Given the description of an element on the screen output the (x, y) to click on. 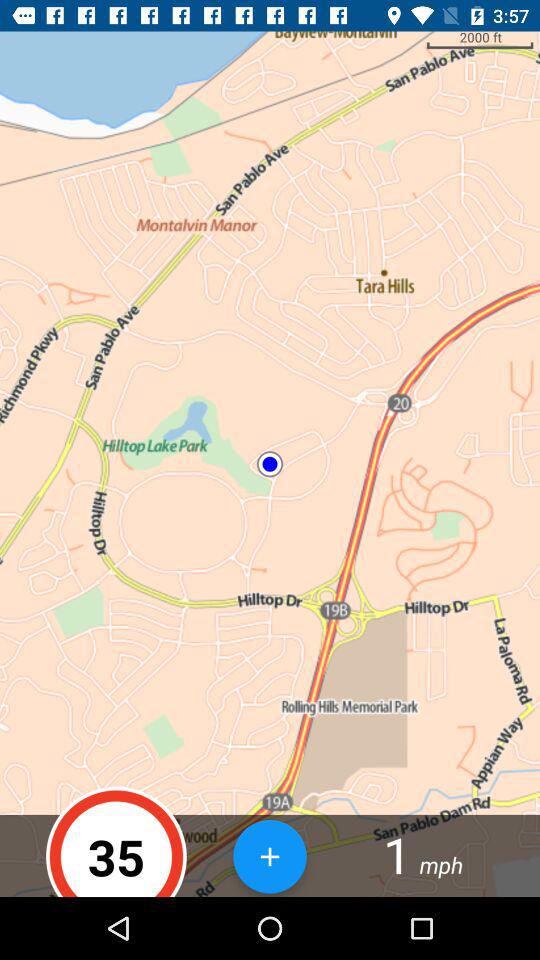
launch the item next to the 35 item (269, 856)
